Given the description of an element on the screen output the (x, y) to click on. 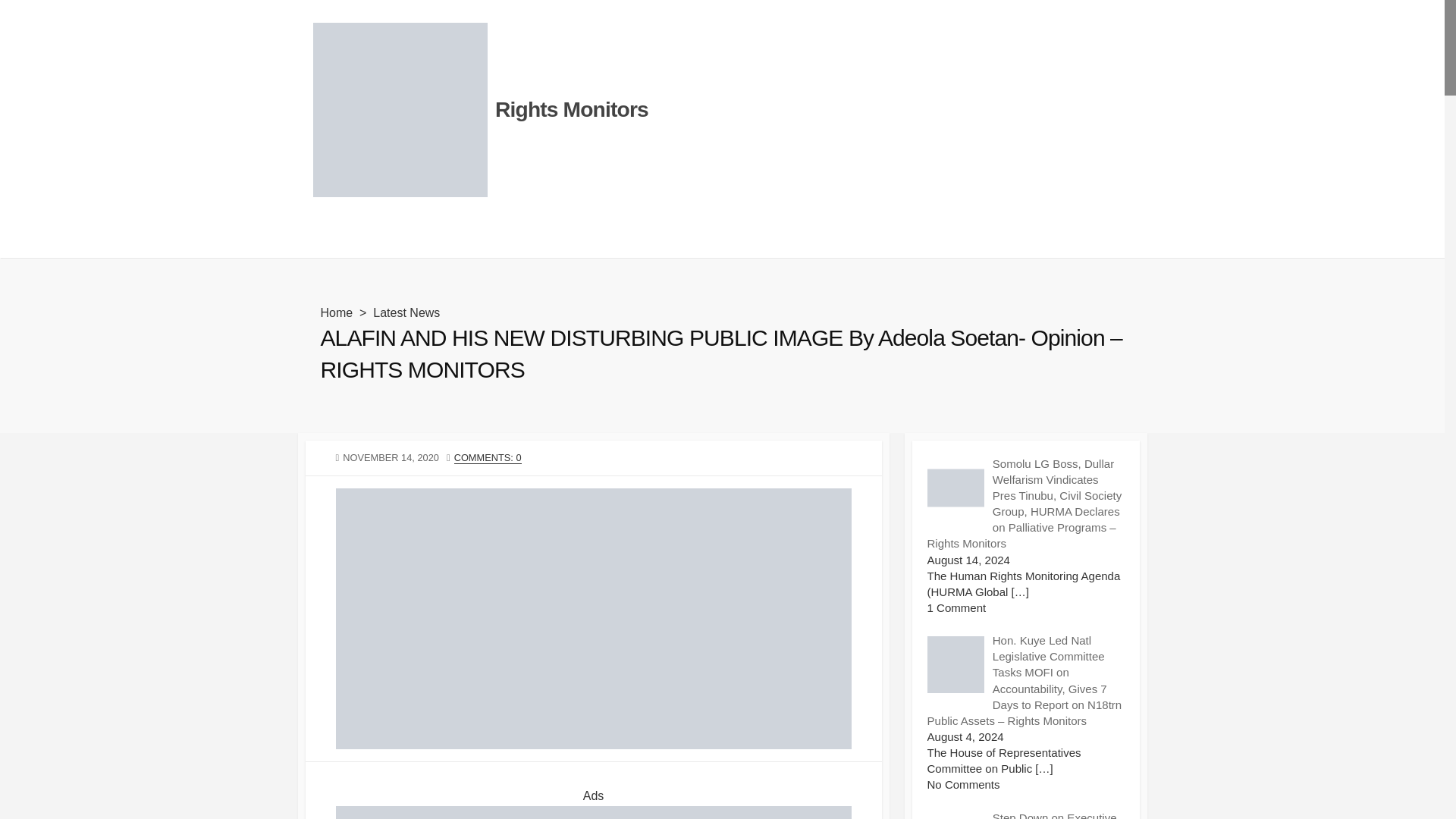
Know Your Right (795, 238)
Gallery (323, 238)
Rights Monitors (571, 109)
Rights Monitors (399, 109)
Home (336, 312)
Contact Us (614, 238)
About Us (545, 238)
COMMENTS: 0 (487, 457)
Latest News (405, 312)
Previous Edition of Labe Ofin (431, 238)
